Given the description of an element on the screen output the (x, y) to click on. 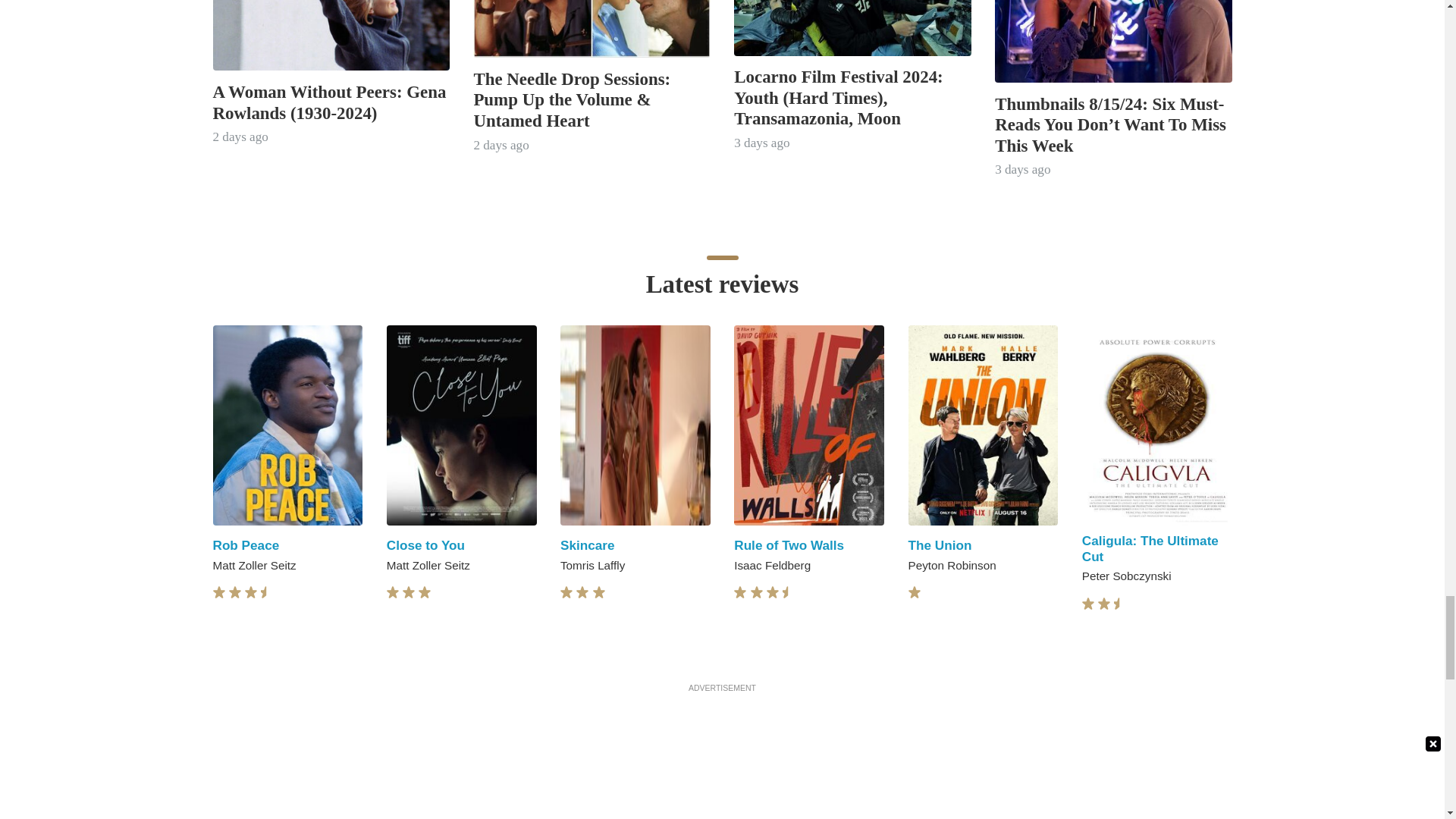
star-full (234, 592)
star-full (424, 592)
star-full (566, 592)
star-full (408, 592)
star-full (250, 592)
star-full (218, 592)
star-full (392, 592)
star-full (582, 592)
star-half (266, 592)
